Given the description of an element on the screen output the (x, y) to click on. 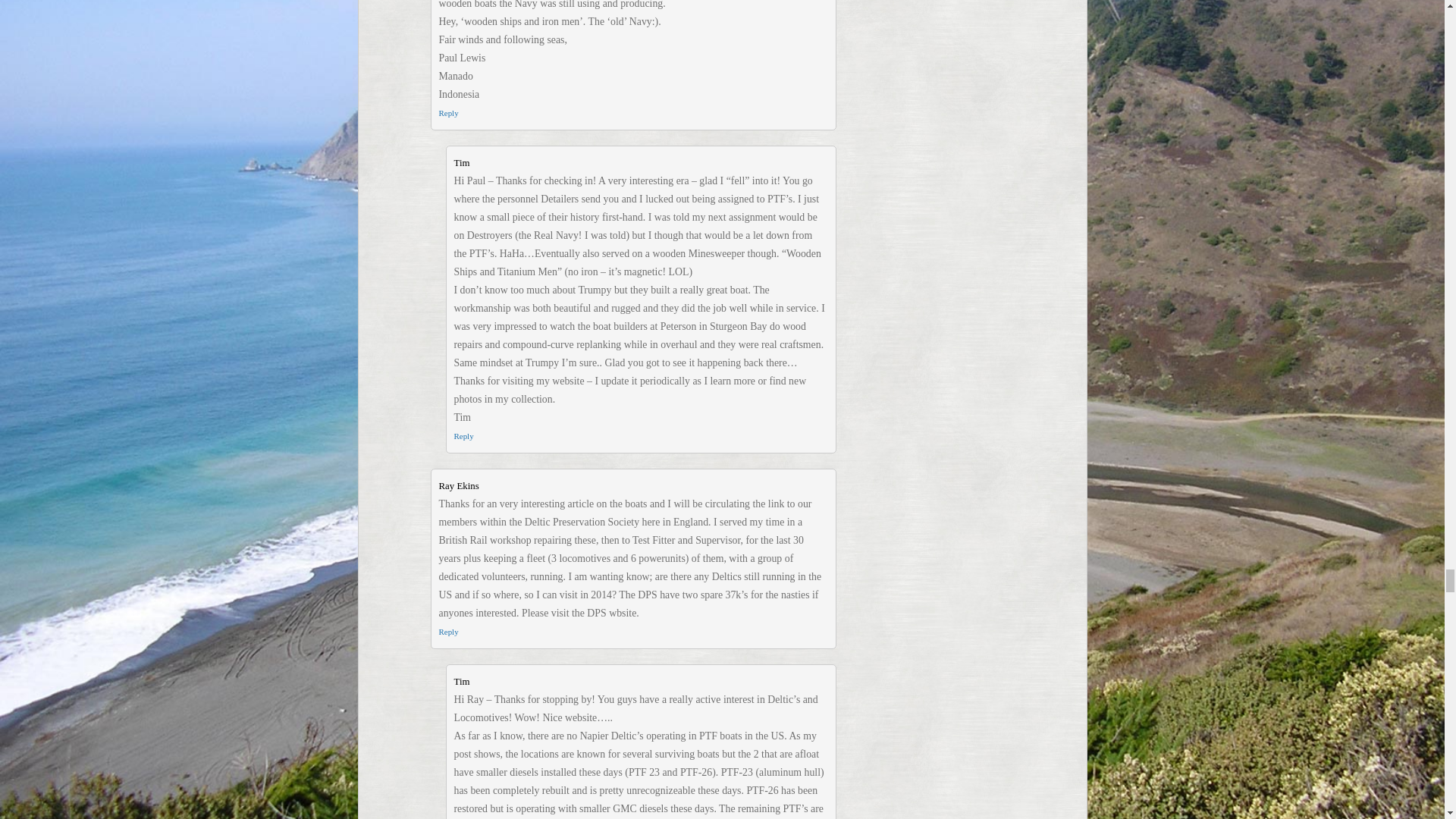
Reply (462, 435)
Reply (448, 631)
Reply (448, 112)
